Given the description of an element on the screen output the (x, y) to click on. 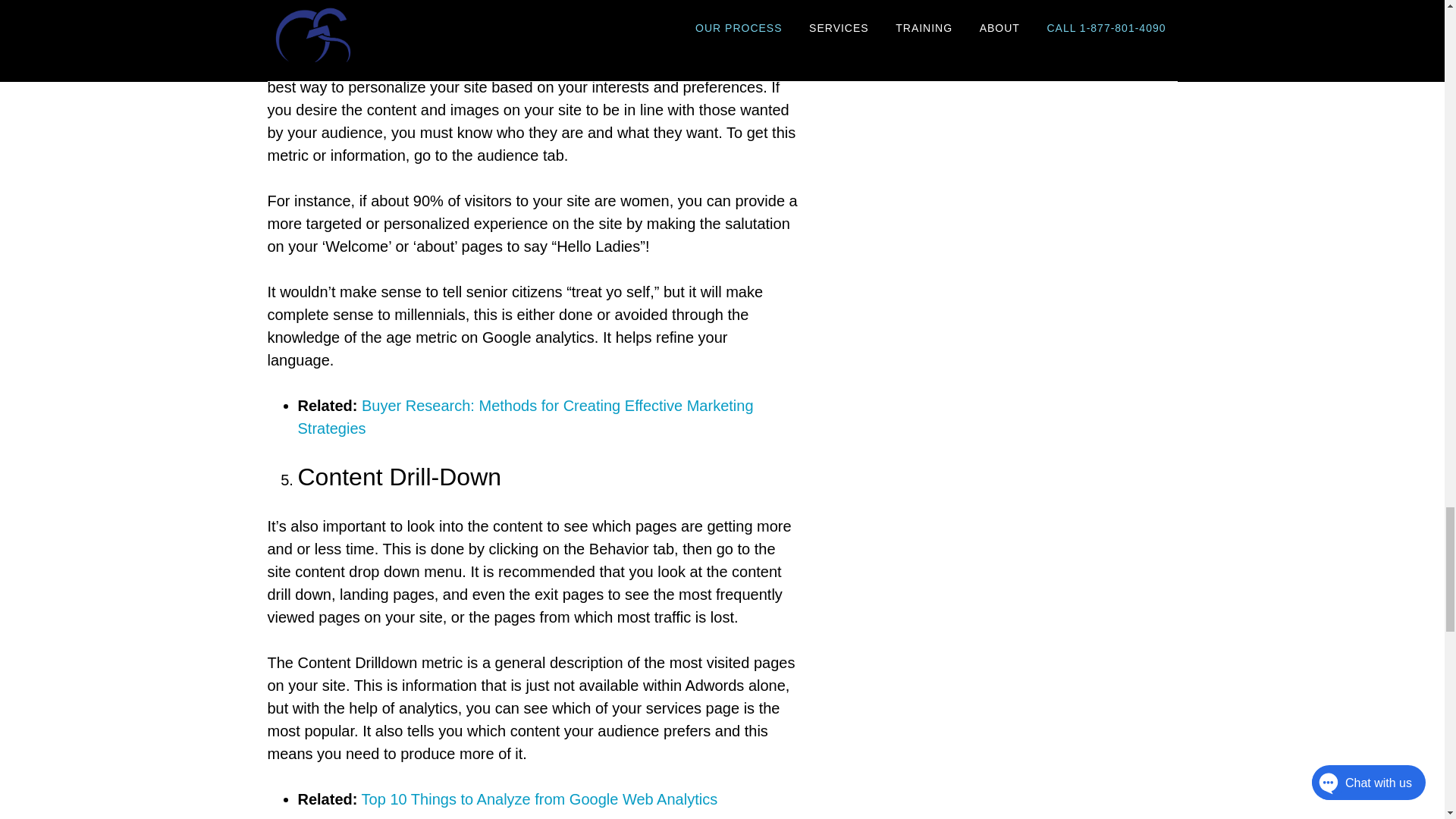
Top 10 Things to Analyze from Google Web Analytics (539, 799)
